Given the description of an element on the screen output the (x, y) to click on. 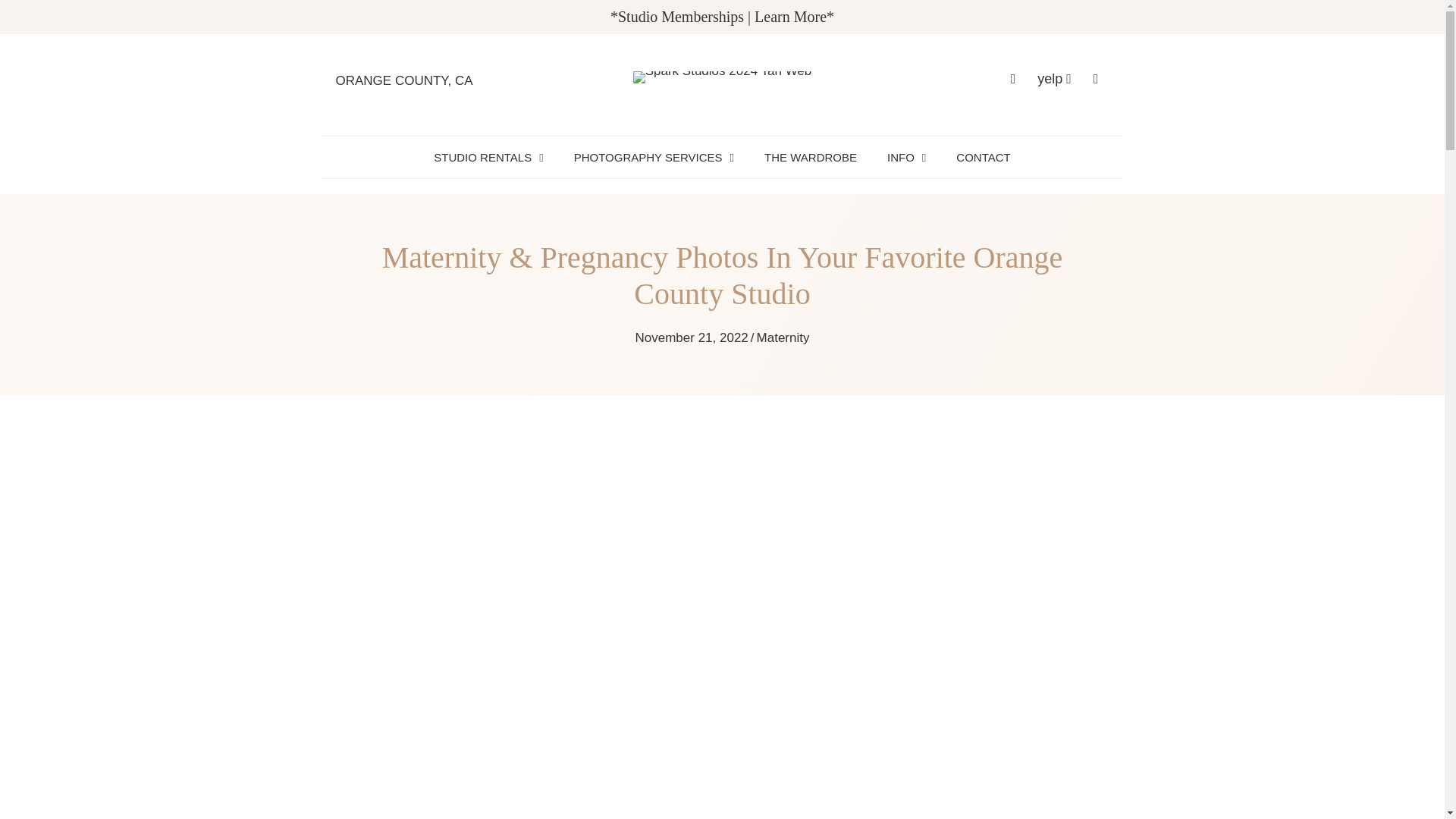
Follow us on Instagram (1013, 78)
Spark Studios 2024 Tan Web (722, 77)
PHOTOGRAPHY SERVICES (653, 157)
Send us an email (1096, 78)
INFO (906, 157)
CONTACT (983, 157)
yelp (1053, 78)
See our Yelp reviews (1053, 78)
STUDIO RENTALS (488, 157)
THE WARDROBE (810, 157)
